Given the description of an element on the screen output the (x, y) to click on. 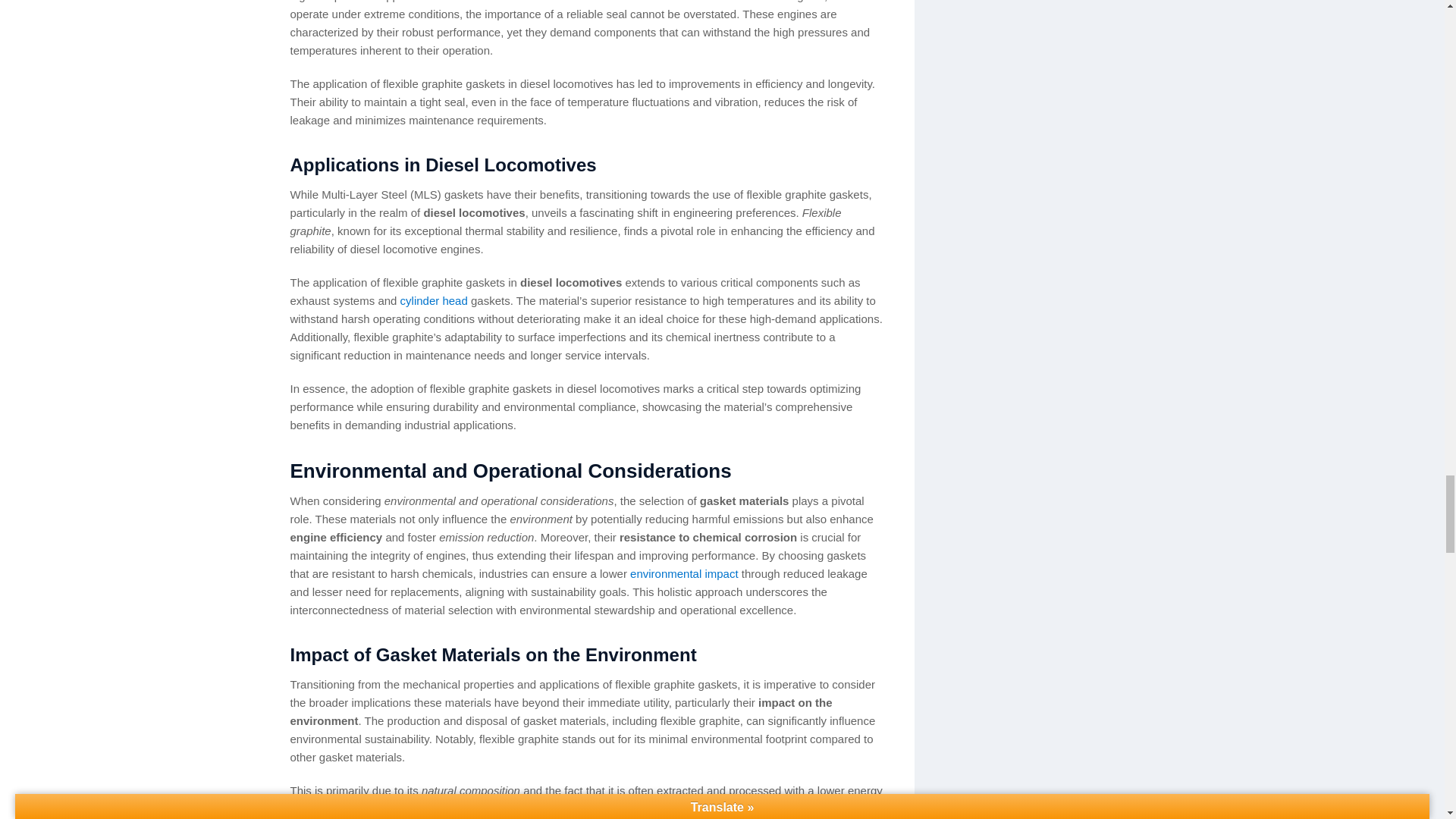
cylinder head (433, 300)
environmental impact (684, 573)
